Given the description of an element on the screen output the (x, y) to click on. 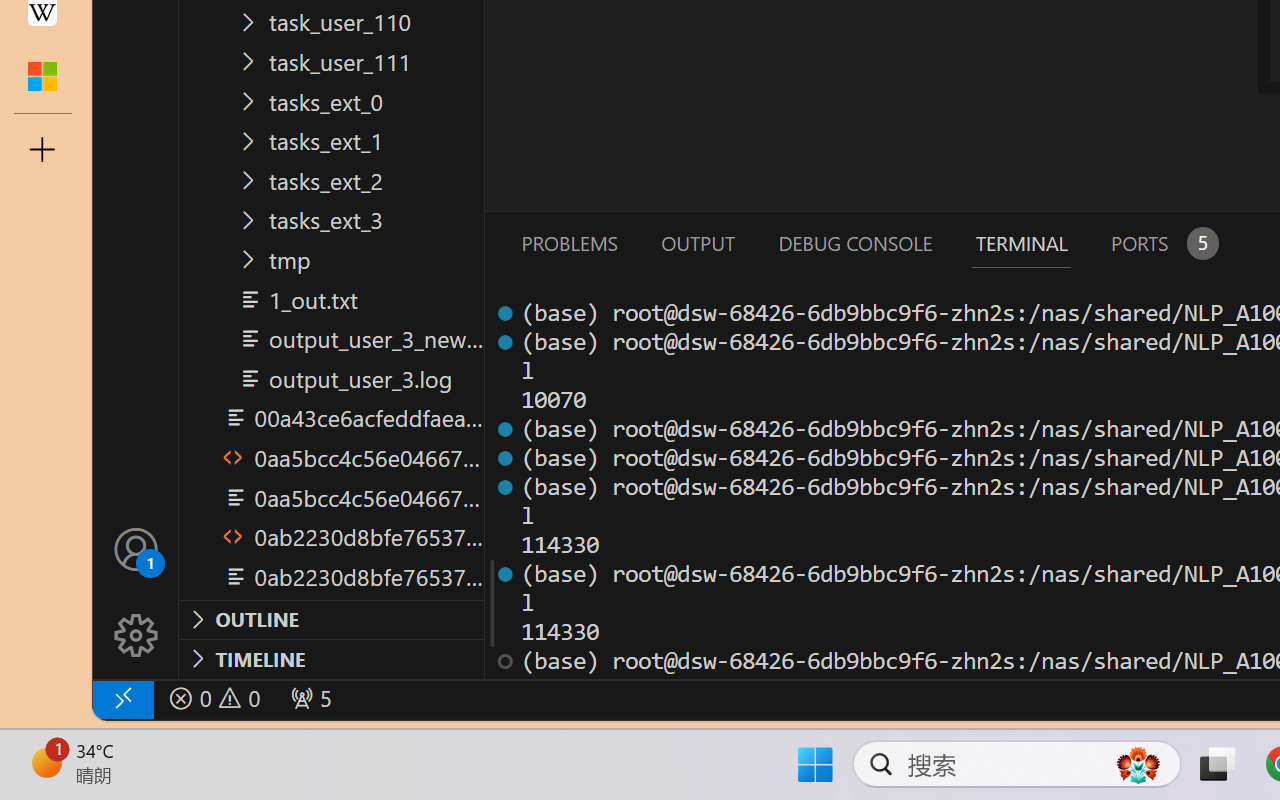
No Problems (212, 698)
Manage (135, 635)
Timeline Section (331, 658)
Accounts - Sign in requested (135, 548)
remote (122, 698)
Debug Console (Ctrl+Shift+Y) (854, 243)
Forwarded Ports: 36301, 47065, 38781, 45817, 50331 (308, 698)
Ports - 5 forwarded ports (1162, 243)
Manage (135, 591)
Output (Ctrl+Shift+U) (696, 243)
